Given the description of an element on the screen output the (x, y) to click on. 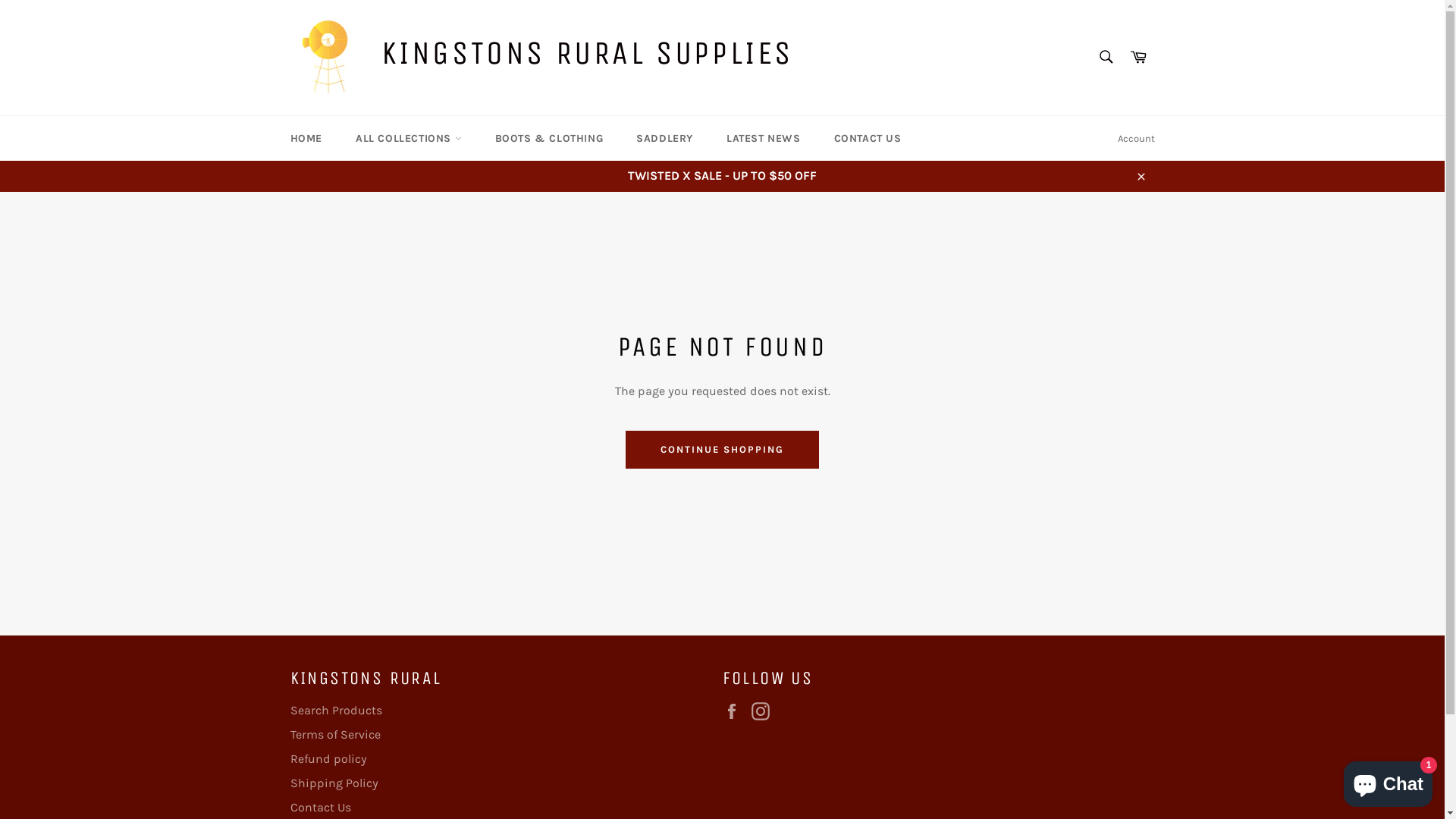
Shopify online store chat Element type: hover (1388, 780)
HOME Element type: text (305, 138)
CONTINUE SHOPPING Element type: text (722, 449)
LATEST NEWS Element type: text (763, 138)
Search Products Element type: text (335, 709)
Contact Us Element type: text (319, 807)
Facebook Element type: text (734, 711)
Search Element type: text (1105, 56)
TWISTED X SALE - UP TO $50 OFF Element type: text (721, 175)
KINGSTONS RURAL SUPPLIES Element type: text (586, 52)
ALL COLLECTIONS Element type: text (408, 138)
CONTACT US Element type: text (867, 138)
Shipping Policy Element type: text (333, 782)
Close Element type: text (1139, 175)
Account Element type: text (1136, 138)
BOOTS & CLOTHING Element type: text (549, 138)
SADDLERY Element type: text (664, 138)
Instagram Element type: text (763, 711)
Terms of Service Element type: text (334, 734)
Cart Element type: text (1138, 57)
Refund policy Element type: text (327, 758)
